Given the description of an element on the screen output the (x, y) to click on. 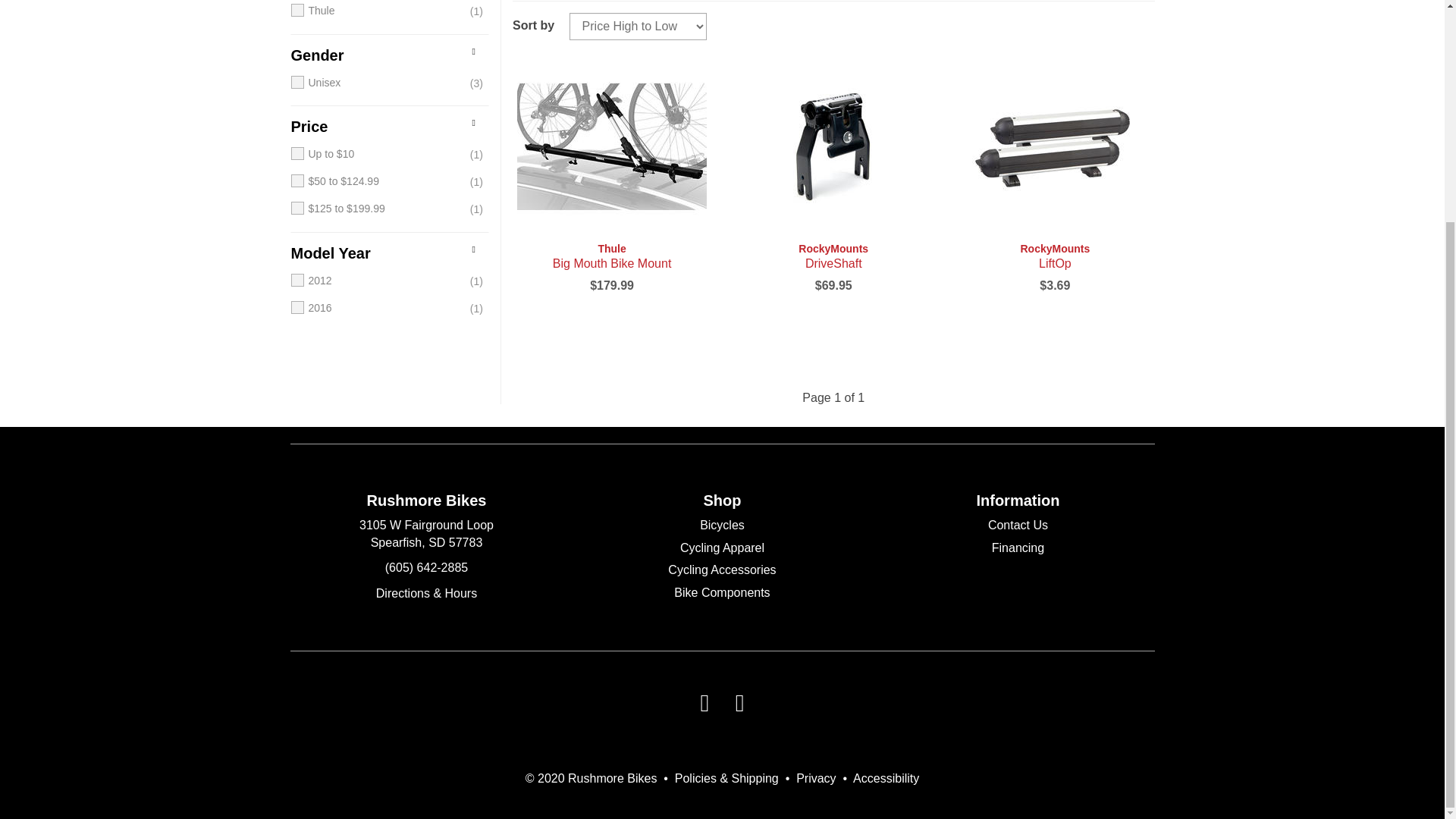
RockyMounts DriveShaft (833, 145)
Thule Big Mouth Bike Mount (611, 255)
RockyMounts DriveShaft (833, 255)
RockyMounts LiftOp (1054, 145)
Thule Big Mouth Bike Mount (611, 145)
RockyMounts LiftOp (1054, 255)
